Given the description of an element on the screen output the (x, y) to click on. 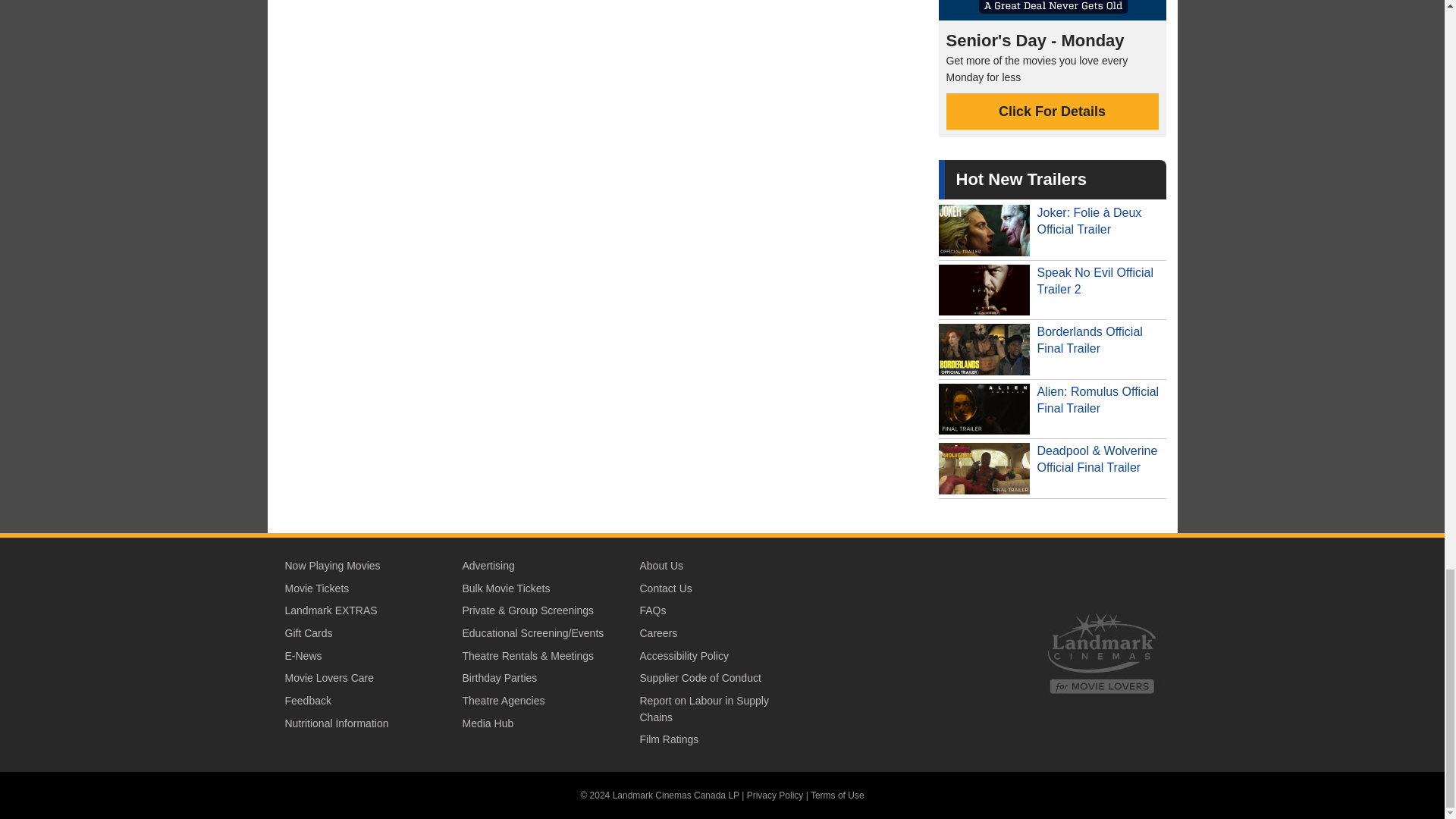
Speak No Evil Official Trailer 2 (1052, 290)
Borderlands Official Final Trailer (1052, 349)
Click For Details (1052, 111)
Alien: Romulus Official Final Trailer (1052, 409)
